Given the description of an element on the screen output the (x, y) to click on. 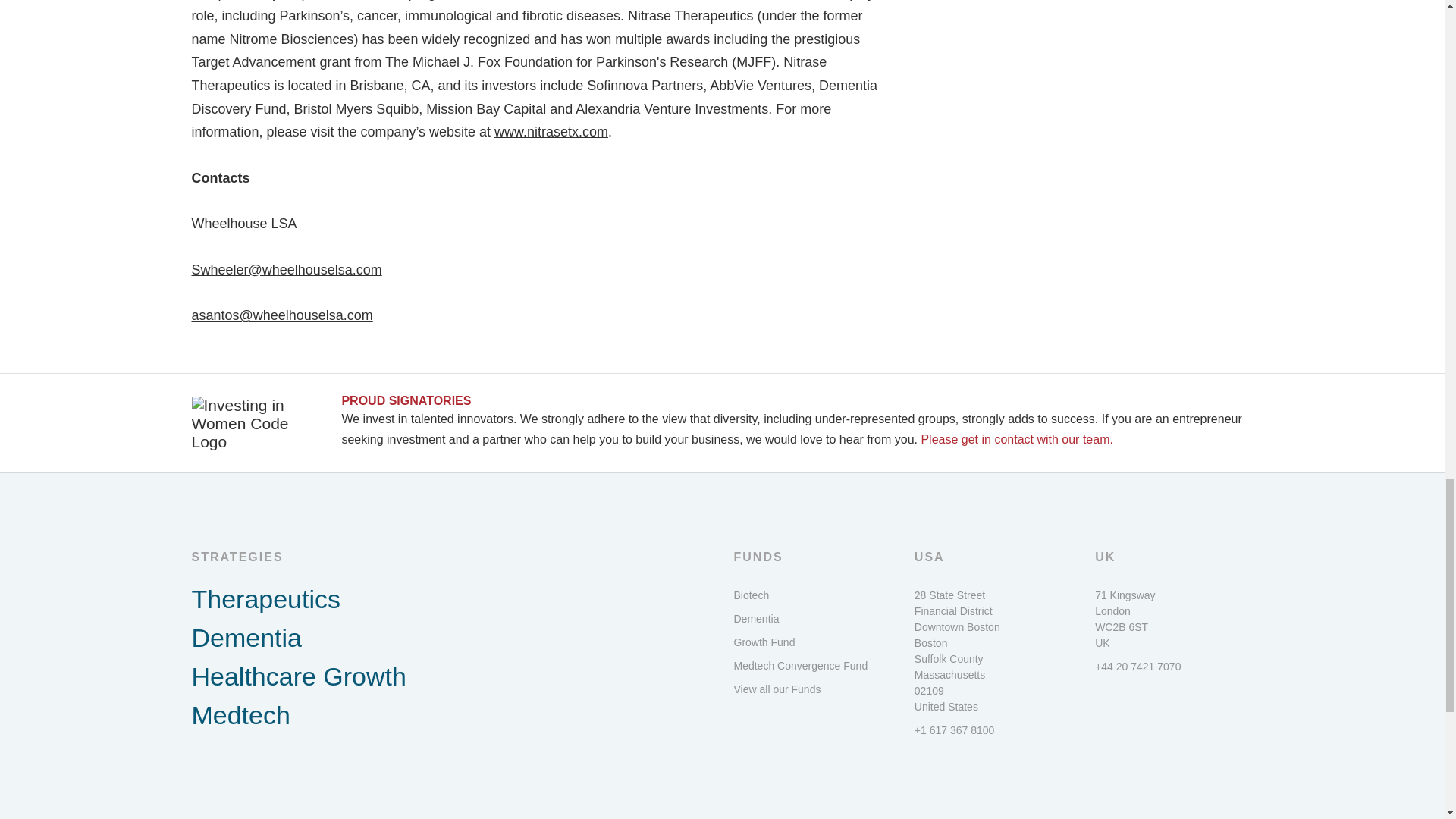
Biotech (812, 595)
Growth Fund (812, 642)
View all our Funds (812, 689)
Healthcare Growth (450, 676)
Dementia (450, 638)
Medtech Convergence Fund (812, 666)
Please get in contact with our team. (1016, 439)
www.nitrasetx.com (551, 131)
